Given the description of an element on the screen output the (x, y) to click on. 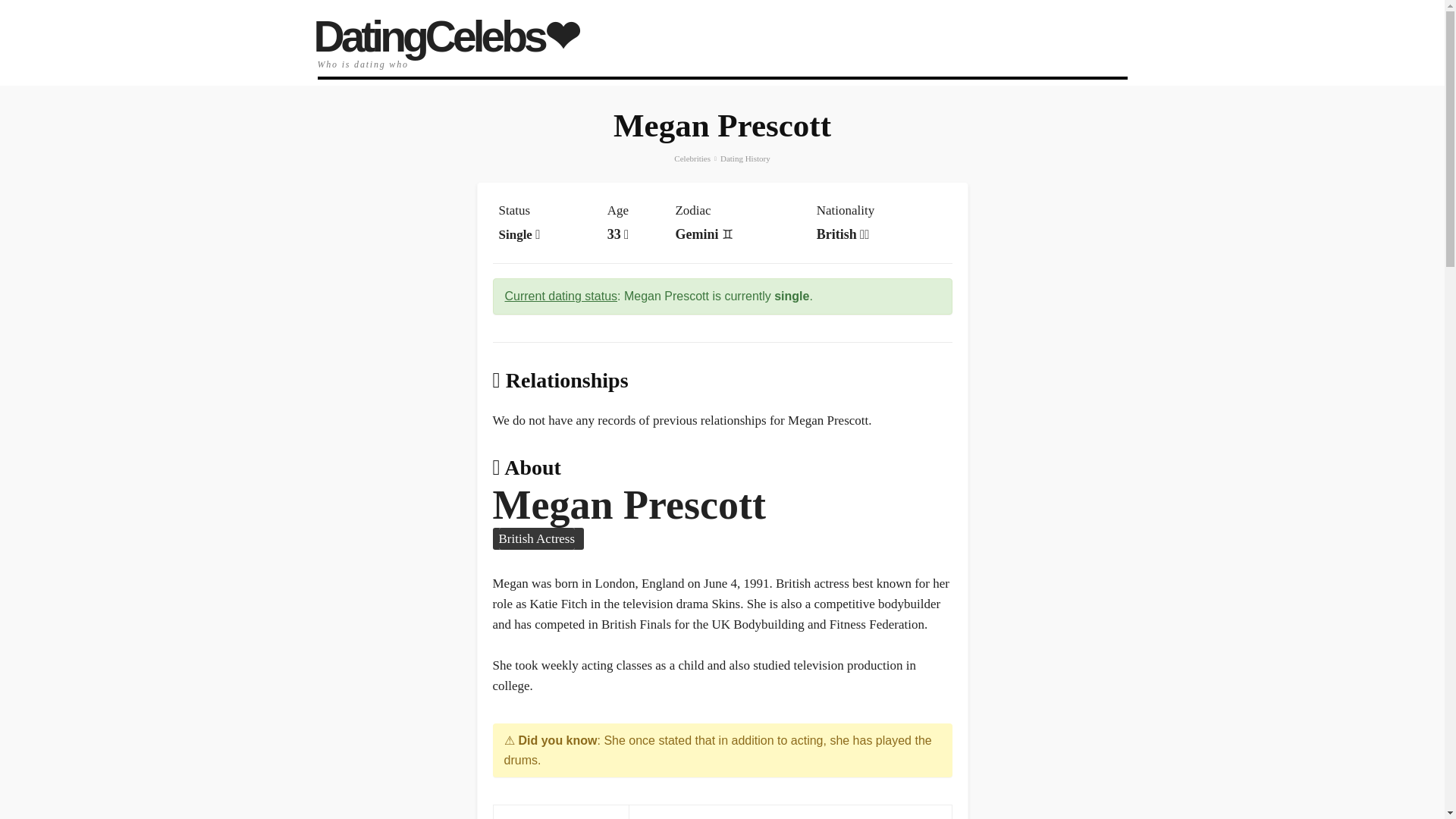
Celebrities (692, 157)
View all posts in Dating History (745, 157)
Dating History (745, 157)
